Given the description of an element on the screen output the (x, y) to click on. 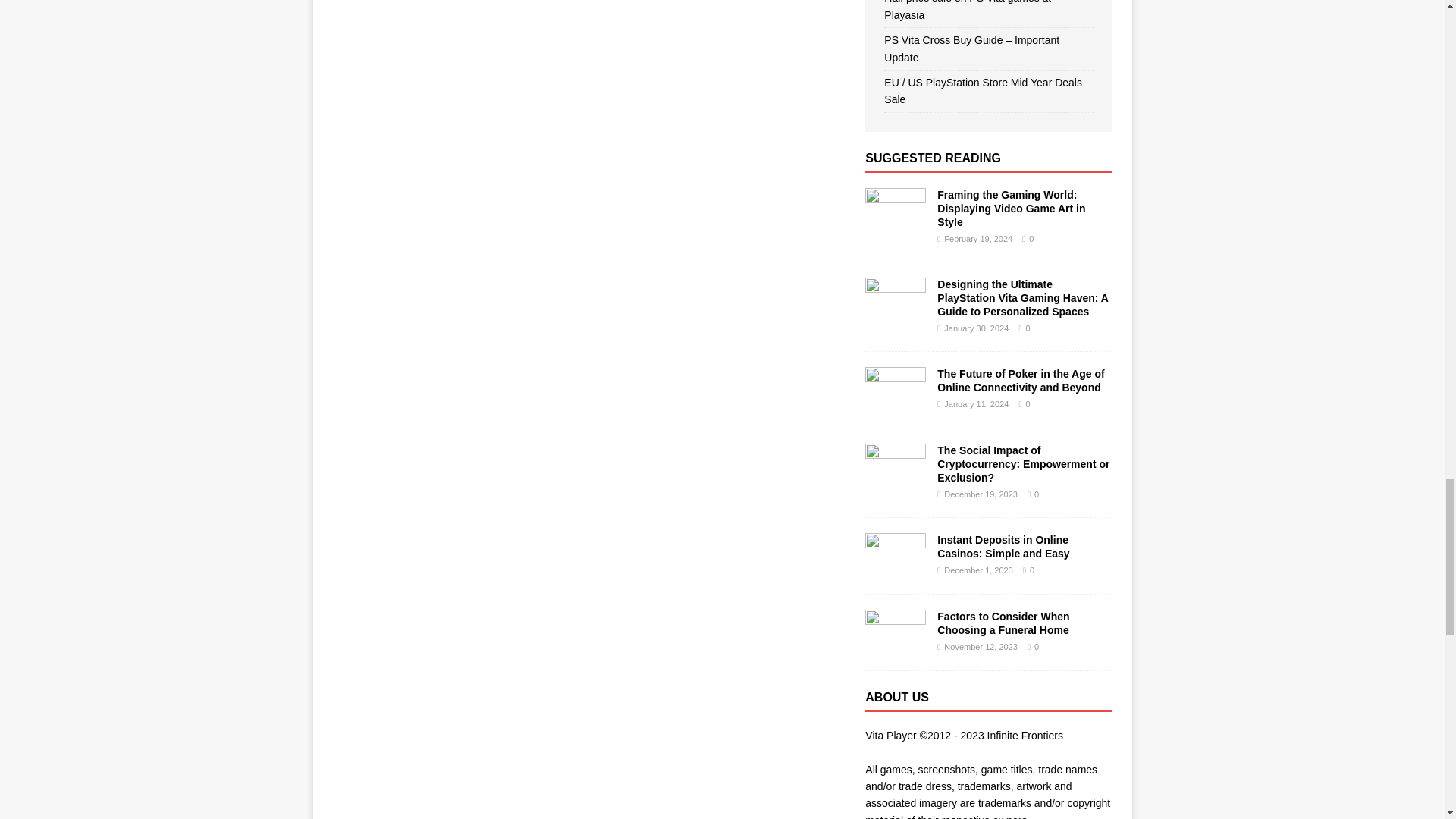
Framing the Gaming World: Displaying Video Game Art in Style (895, 224)
